Given the description of an element on the screen output the (x, y) to click on. 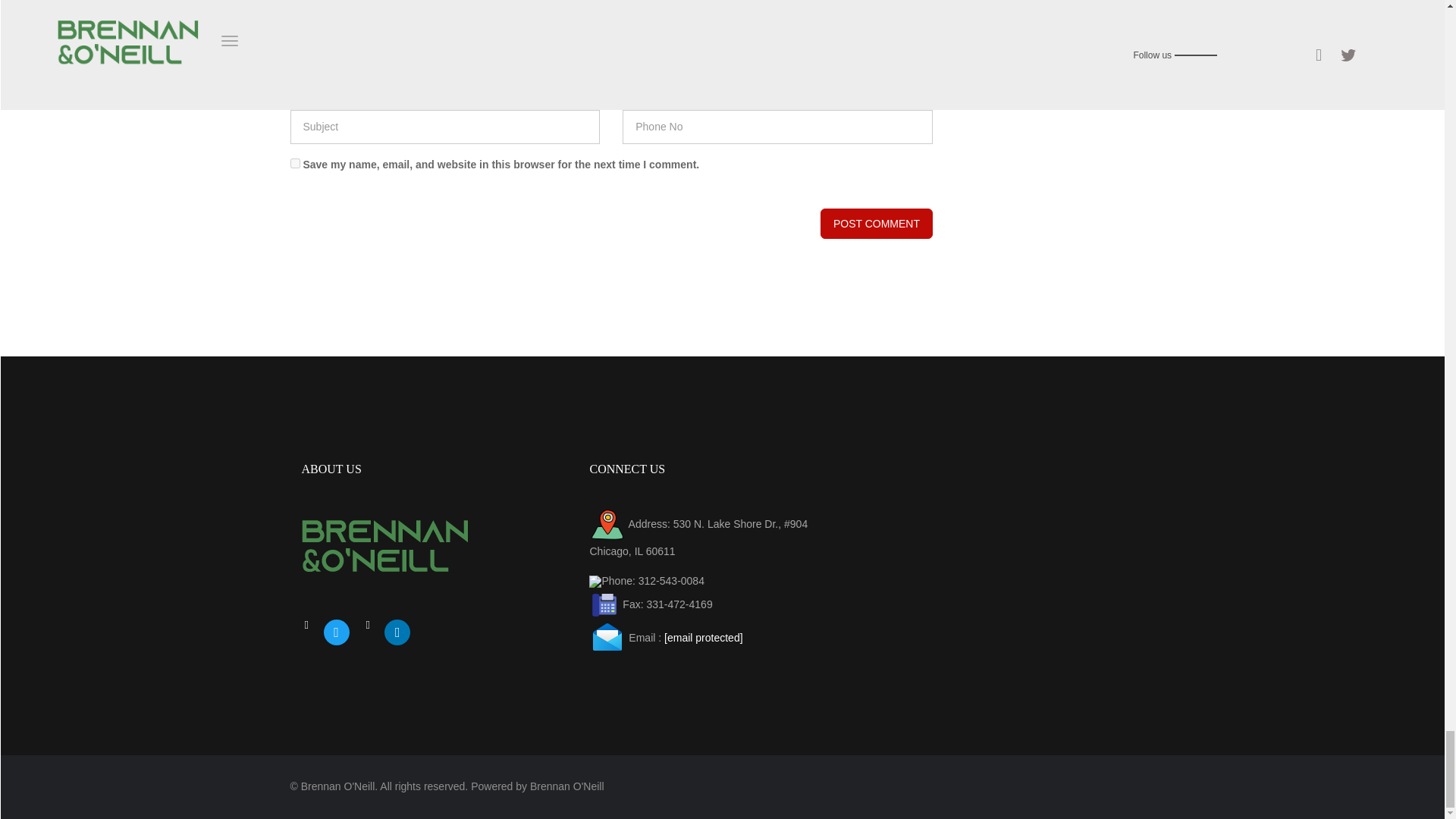
twitter (336, 631)
yes (294, 163)
linkedin (397, 631)
Post Comment (877, 223)
Post Comment (877, 223)
